Given the description of an element on the screen output the (x, y) to click on. 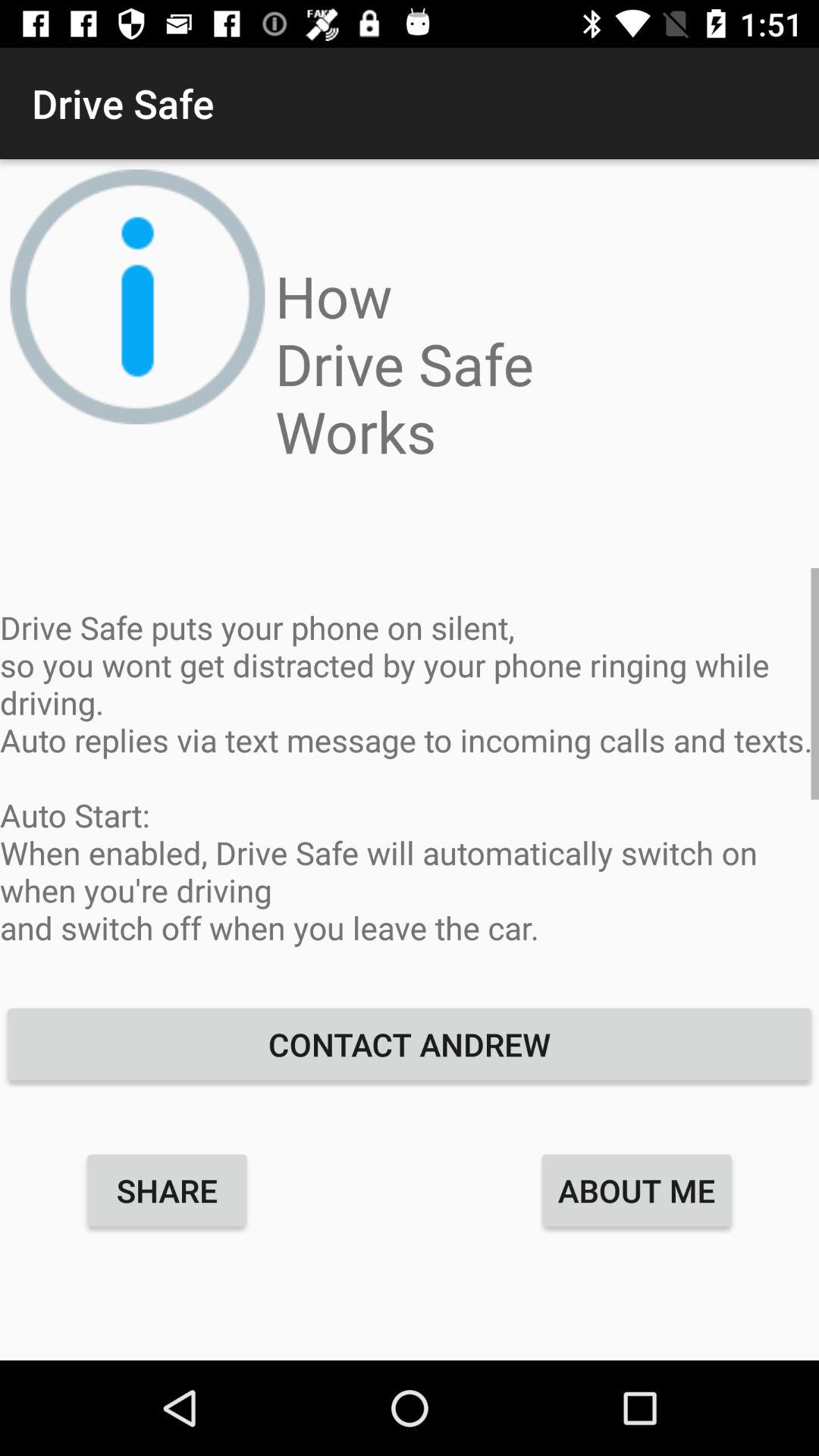
tap icon below the contact andrew icon (636, 1190)
